Given the description of an element on the screen output the (x, y) to click on. 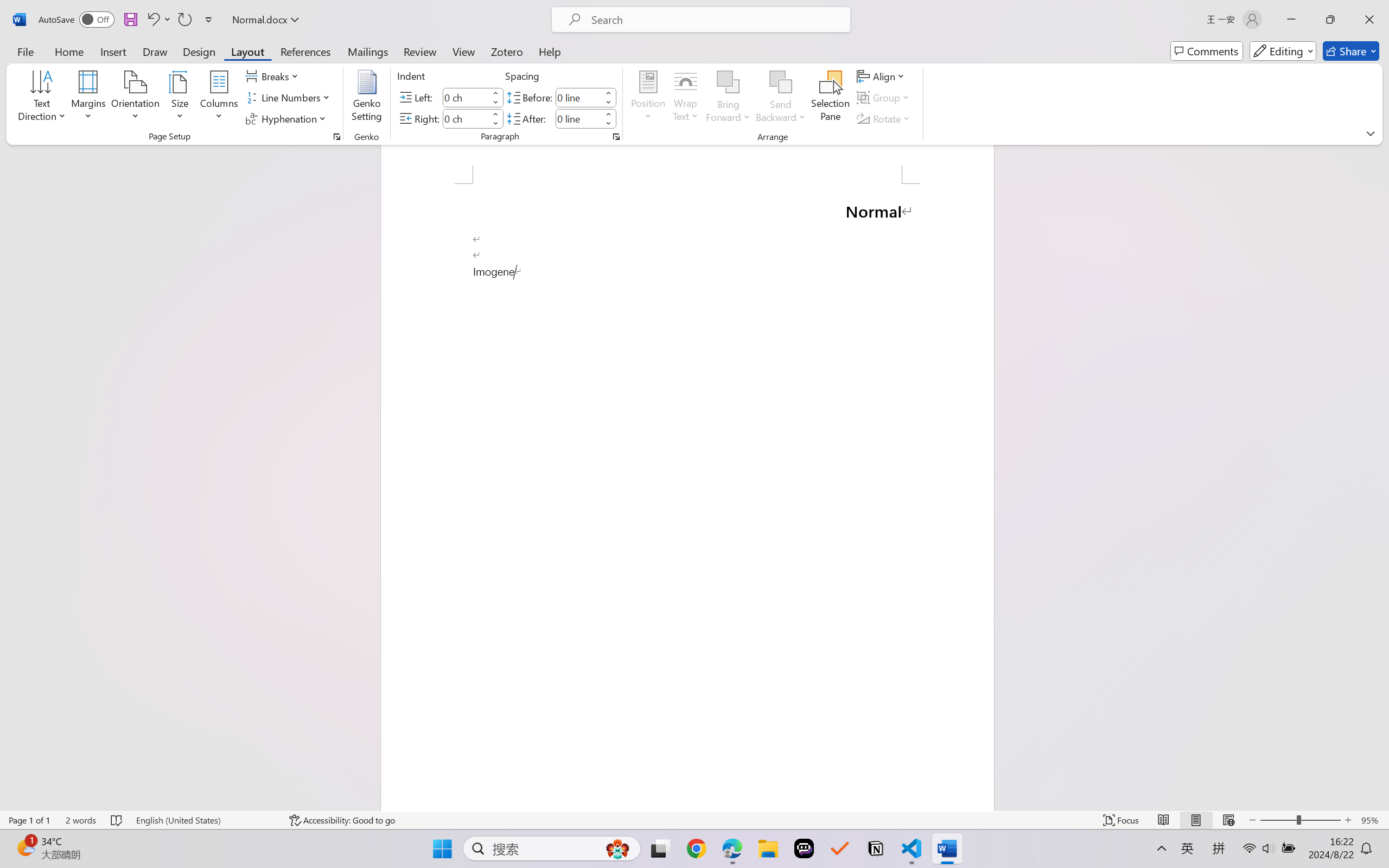
Microsoft search (715, 19)
Selection Pane... (830, 97)
Line Numbers (289, 97)
Indent Right (465, 118)
Text Direction (42, 97)
